Given the description of an element on the screen output the (x, y) to click on. 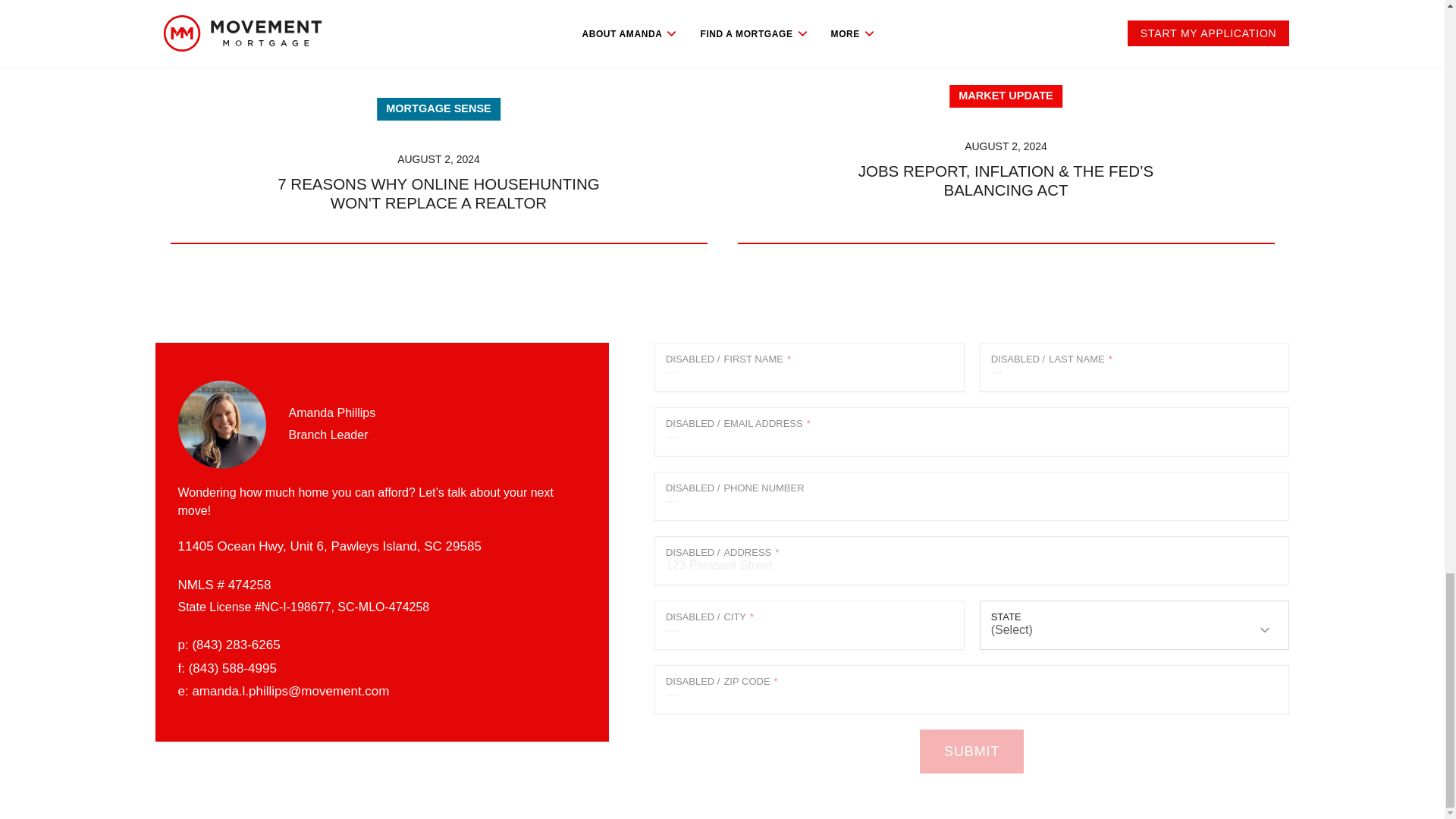
Submit (971, 751)
